Given the description of an element on the screen output the (x, y) to click on. 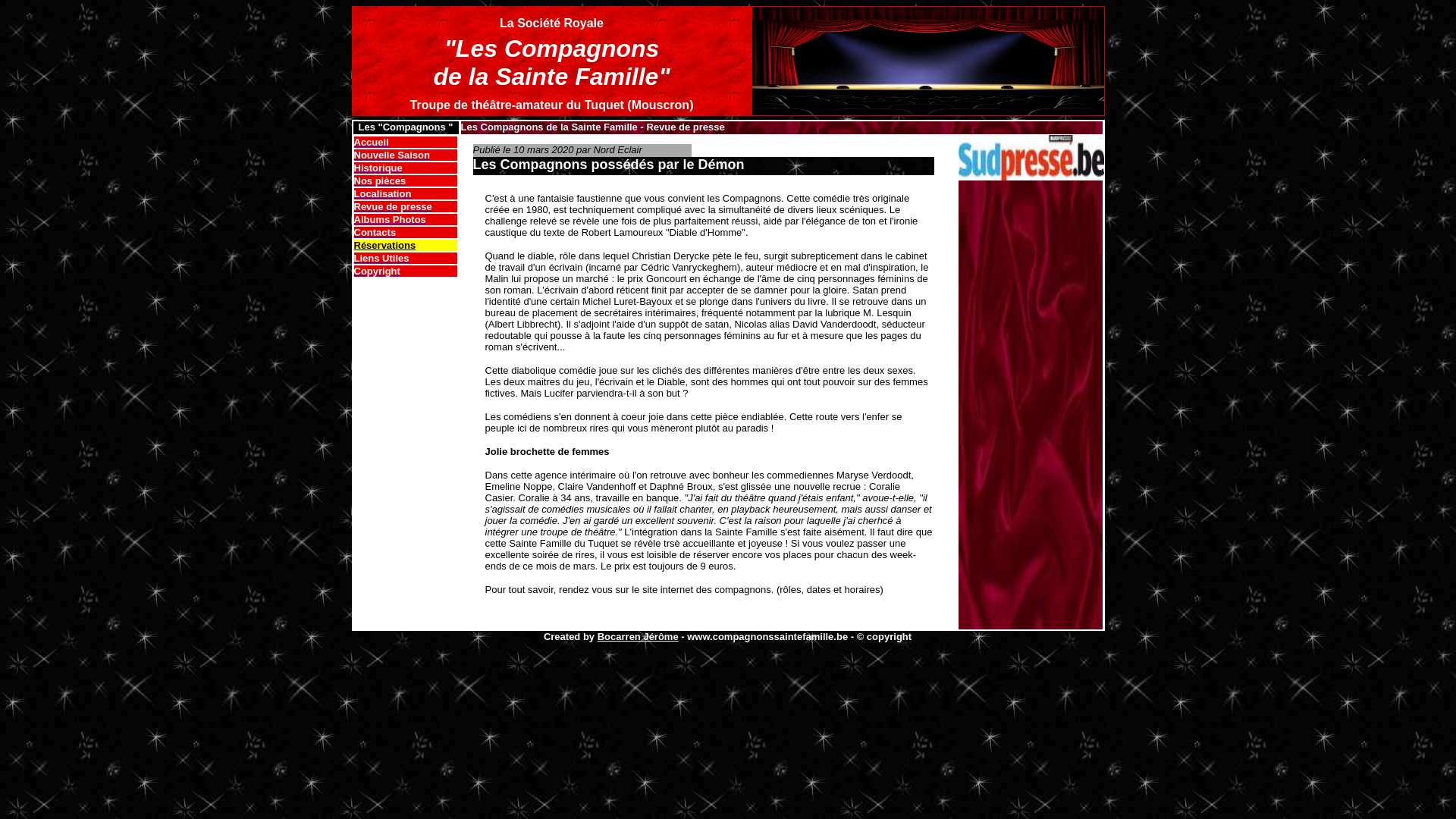
Historique Element type: text (377, 166)
Albums Photos Element type: text (389, 218)
Localisation Element type: text (382, 192)
Revue de presse Element type: text (392, 205)
Copyright Element type: text (376, 269)
Nouvelle Saison Element type: text (391, 153)
Contacts Element type: text (374, 231)
Liens Utiles Element type: text (380, 257)
Accueil Element type: text (370, 140)
